Given the description of an element on the screen output the (x, y) to click on. 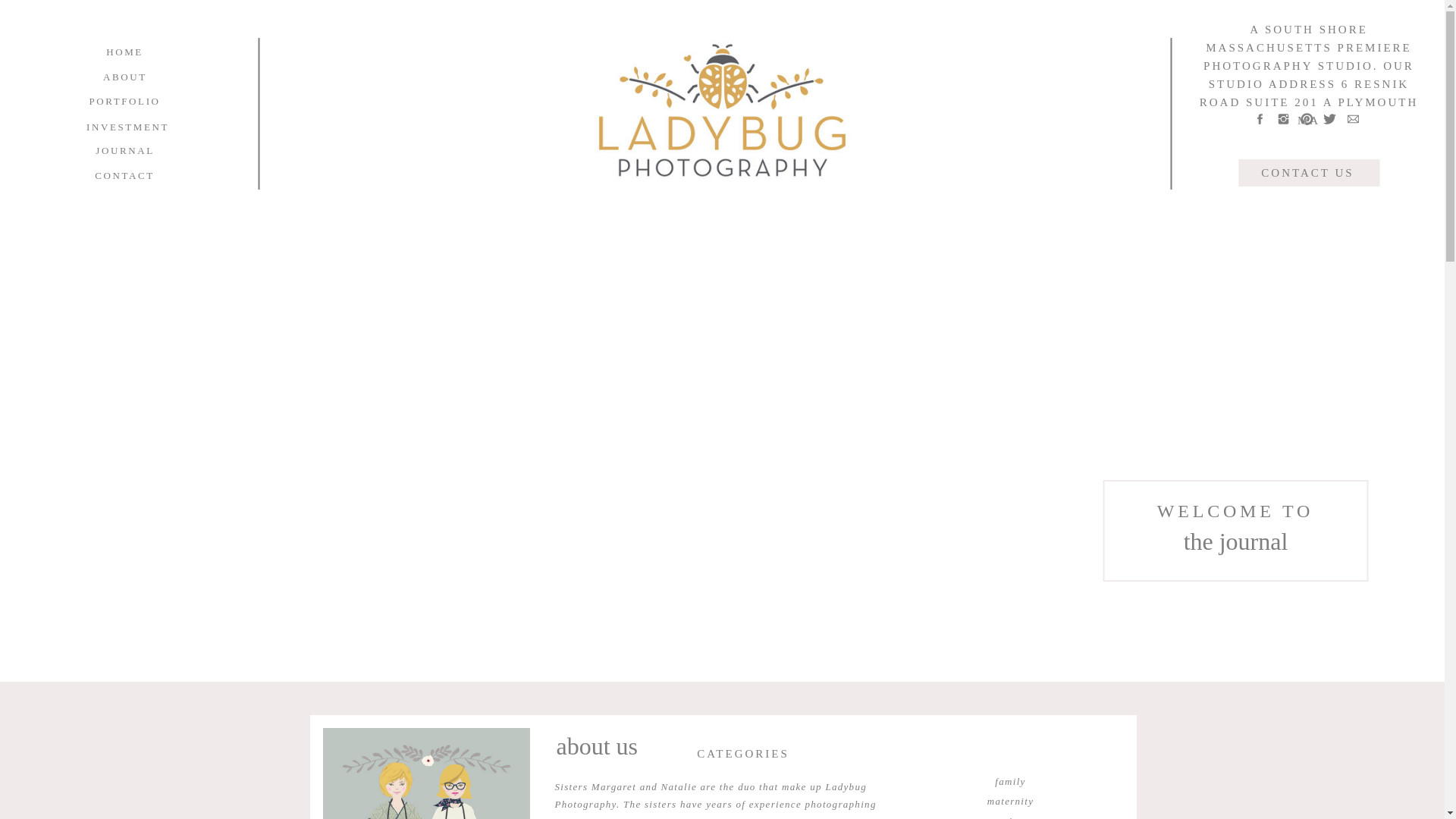
CONTACT US (1308, 171)
CATEGORIES (742, 752)
HOME (124, 51)
CONTACT (124, 175)
JOURNAL (125, 150)
PORTFOLIO (124, 101)
INVESTMENT (126, 126)
ABOUT (124, 76)
